Given the description of an element on the screen output the (x, y) to click on. 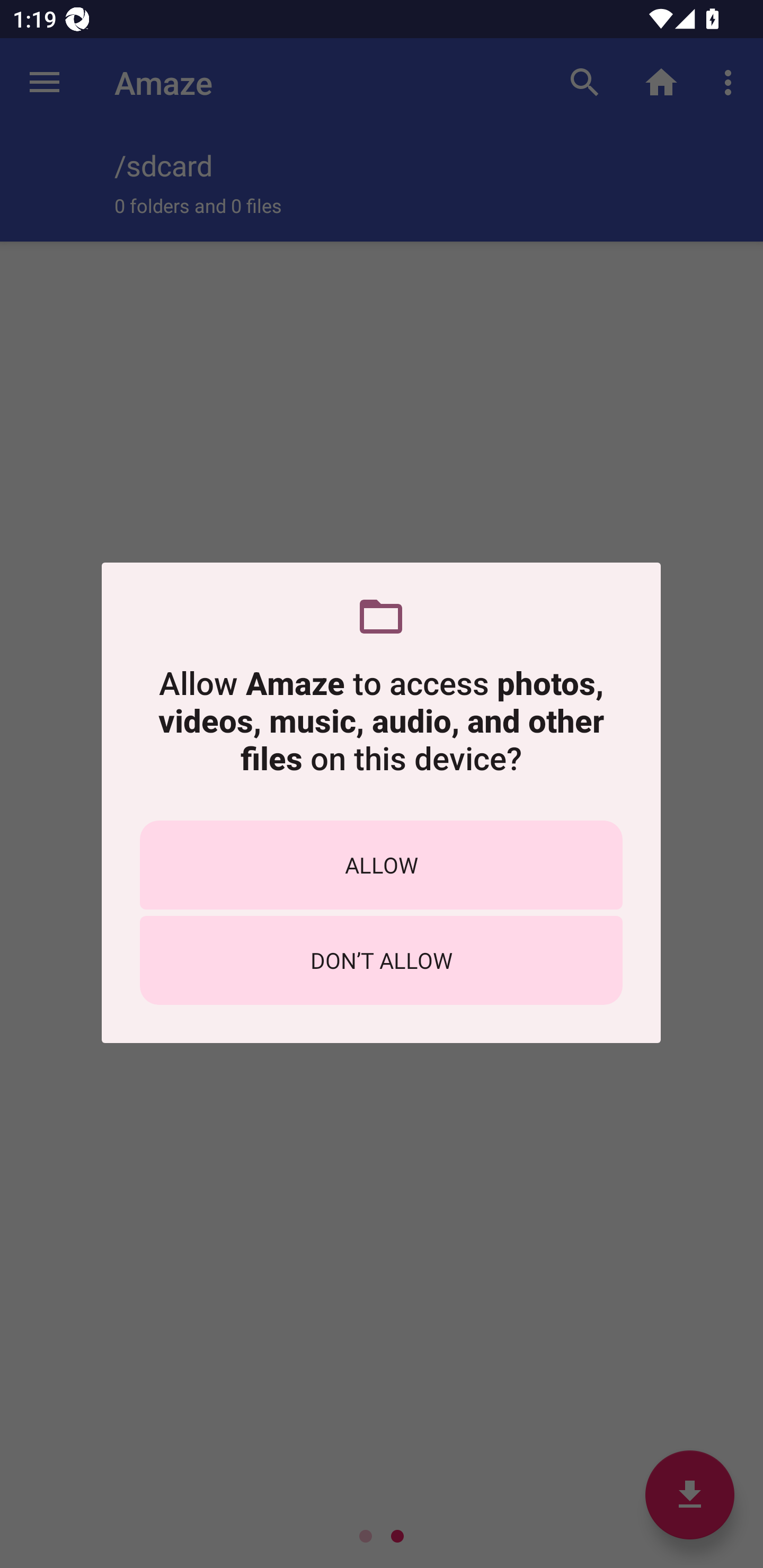
ALLOW (380, 864)
DON’T ALLOW (380, 960)
